Given the description of an element on the screen output the (x, y) to click on. 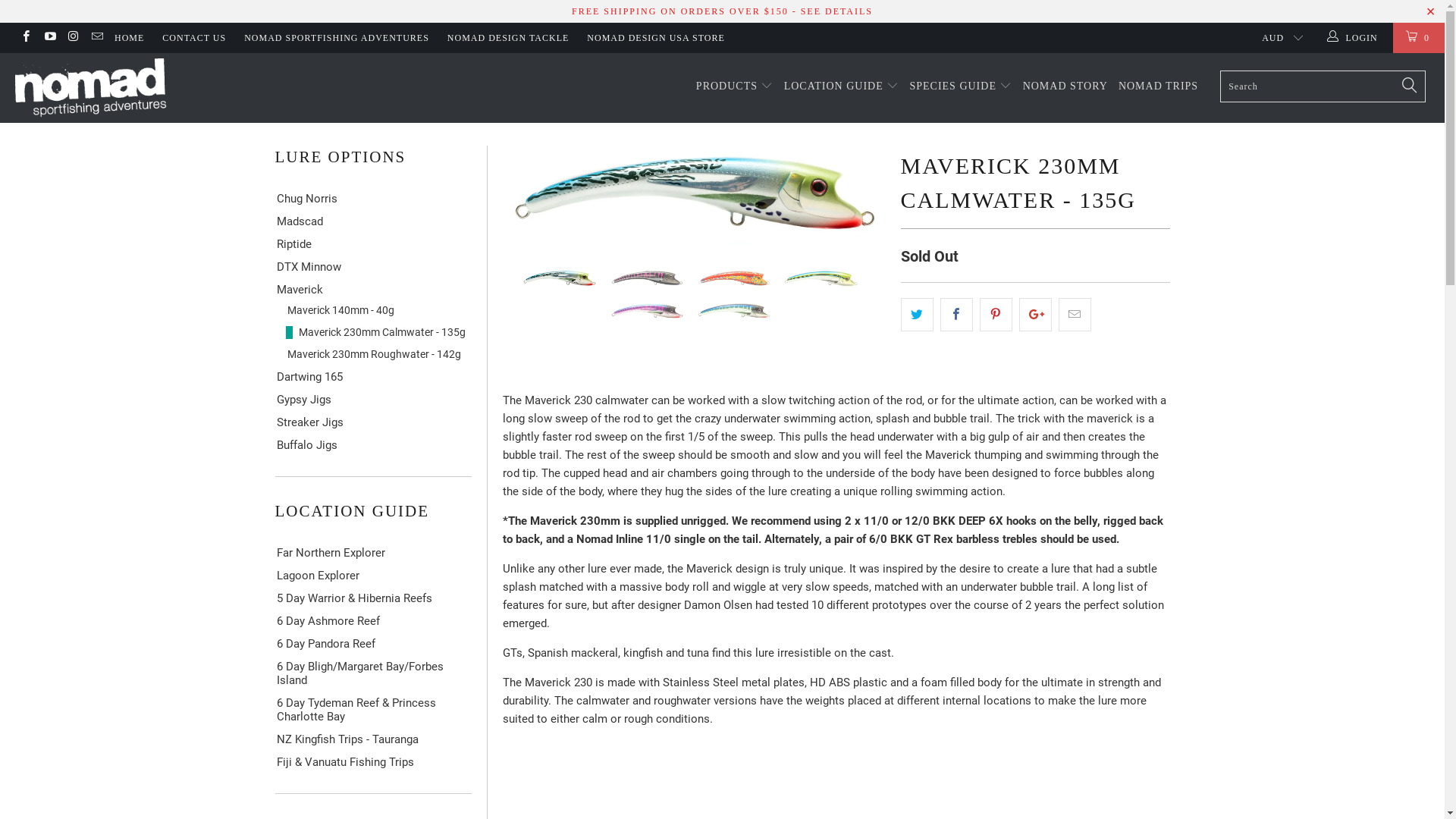
Maverick 230mm Roughwater - 142g Element type: text (377, 354)
Share this on Pinterest Element type: hover (995, 314)
Chug Norris Element type: text (372, 198)
HOME Element type: text (129, 37)
Streaker Jigs Element type: text (372, 422)
LOCATION GUIDE Element type: text (841, 86)
Buffalo Jigs Element type: text (372, 444)
Dartwing 165 Element type: text (372, 376)
6 Day Pandora Reef Element type: text (372, 643)
6 Day Tydeman Reef & Princess Charlotte Bay Element type: text (372, 709)
DTX Minnow Element type: text (372, 266)
Nomad Sportfishing Adventures on Facebook Element type: hover (24, 37)
0 Element type: text (1418, 37)
Email this to a friend Element type: hover (1074, 314)
Share this on Twitter Element type: hover (916, 314)
PRODUCTS Element type: text (734, 86)
6 Day Bligh/Margaret Bay/Forbes Island Element type: text (372, 673)
Email Nomad Sportfishing Adventures Element type: hover (96, 37)
NOMAD DESIGN USA STORE Element type: text (655, 37)
Maverick Element type: text (372, 289)
Maverick 230mm Calmwater - 135g Element type: text (377, 332)
Lagoon Explorer Element type: text (372, 575)
5 Day Warrior & Hibernia Reefs Element type: text (372, 598)
Far Northern Explorer Element type: text (372, 552)
Nomad Sportfishing Adventures on Instagram Element type: hover (72, 37)
Nomad Sportfishing Adventures on YouTube Element type: hover (48, 37)
Maverick 140mm - 40g Element type: text (377, 310)
6 Day Ashmore Reef Element type: text (372, 620)
Share this on Google+ Element type: hover (1035, 314)
SPECIES GUIDE Element type: text (960, 86)
CONTACT US Element type: text (193, 37)
NZ Kingfish Trips - Tauranga Element type: text (372, 739)
LOGIN Element type: text (1353, 37)
Gypsy Jigs Element type: text (372, 399)
FREE SHIPPING ON ORDERS OVER $150 - SEE DETAILS Element type: text (721, 11)
NOMAD DESIGN TACKLE Element type: text (507, 37)
NOMAD STORY Element type: text (1064, 86)
Madscad Element type: text (372, 221)
Share this on Facebook Element type: hover (956, 314)
Nomad Sportfishing Adventures Element type: hover (123, 87)
Riptide Element type: text (372, 244)
NOMAD SPORTFISHING ADVENTURES Element type: text (336, 37)
NOMAD TRIPS Element type: text (1158, 86)
Fiji & Vanuatu Fishing Trips Element type: text (372, 761)
